Given the description of an element on the screen output the (x, y) to click on. 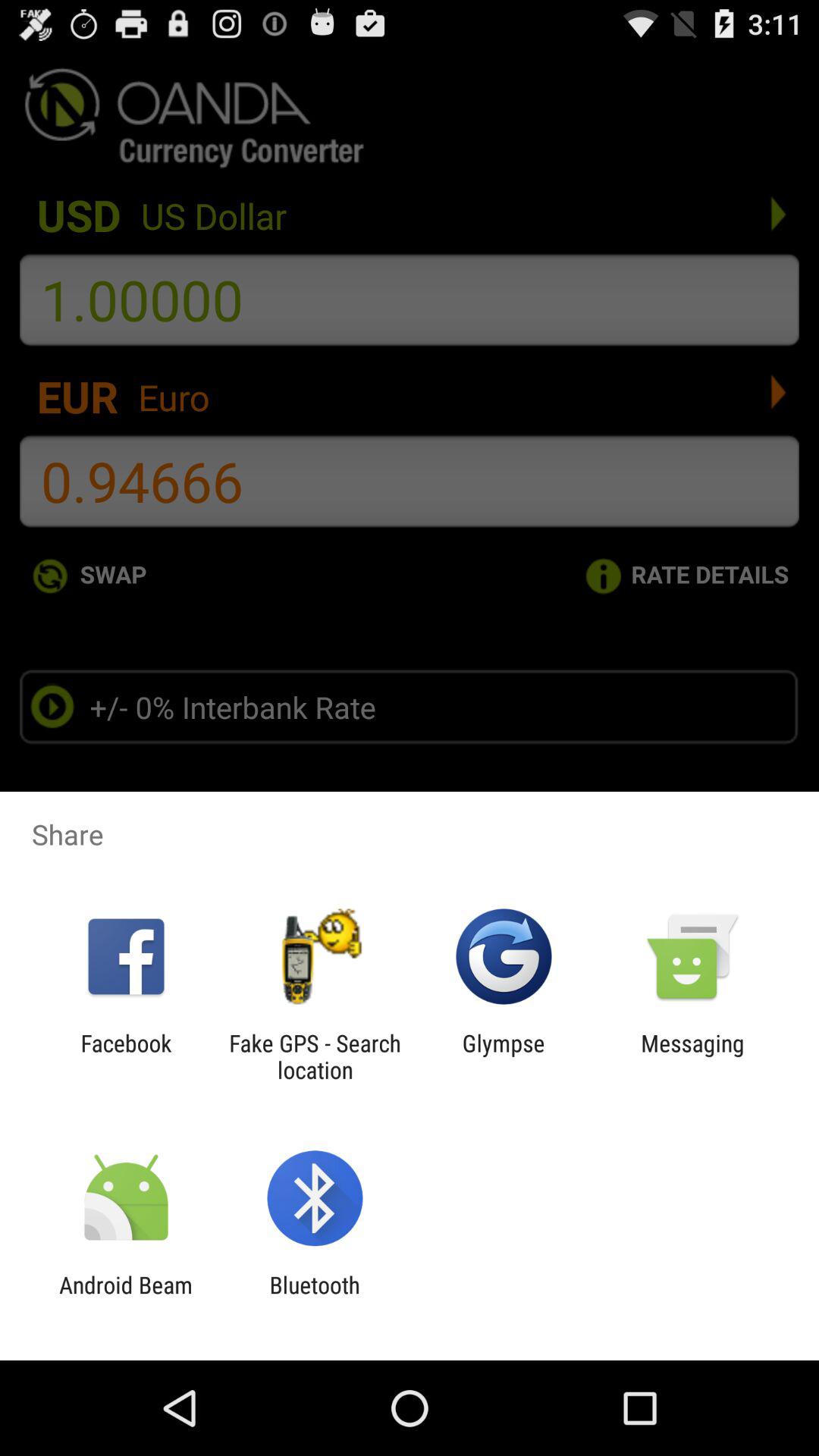
turn off the app next to the fake gps search item (125, 1056)
